Given the description of an element on the screen output the (x, y) to click on. 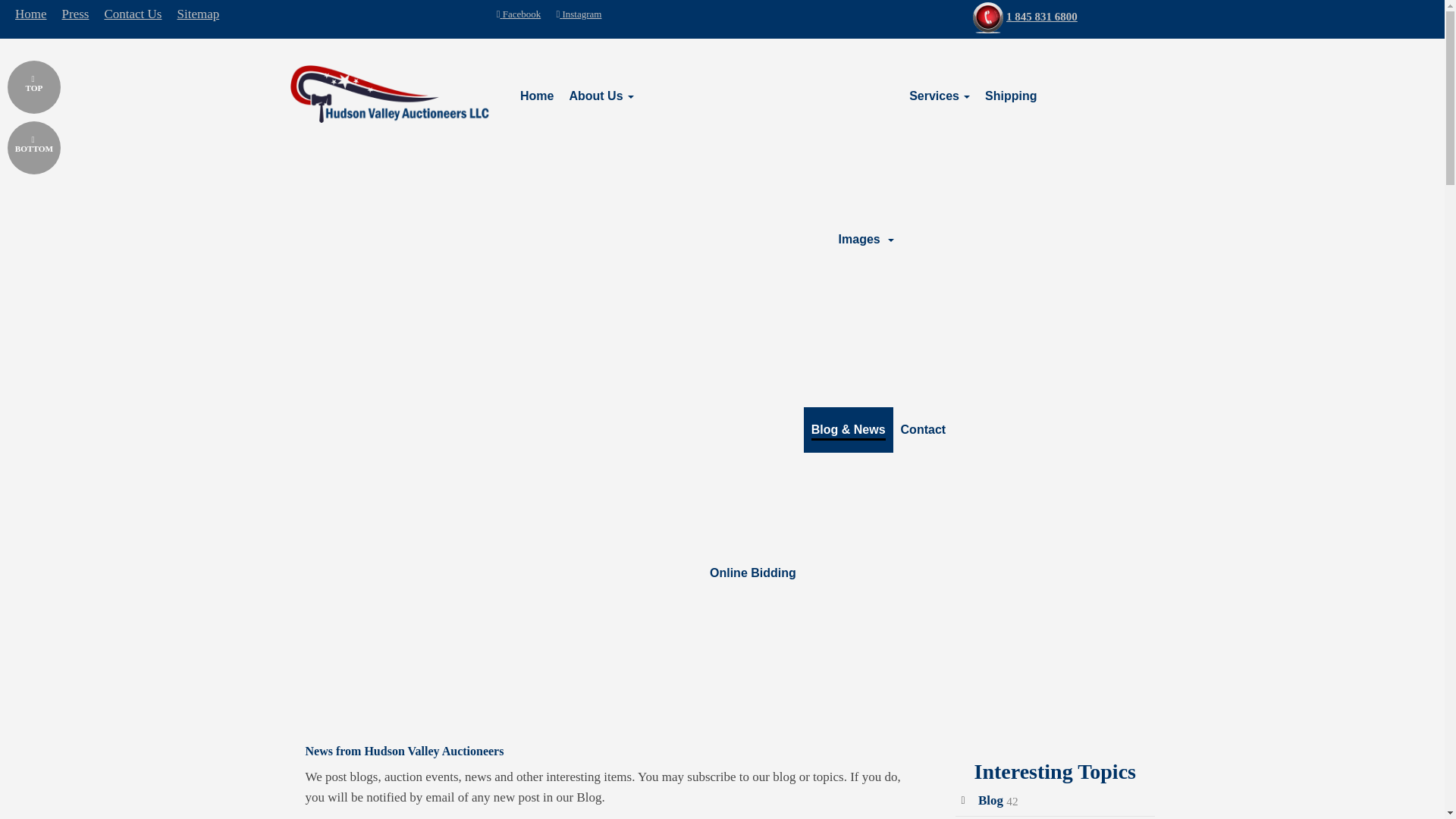
Contact (923, 429)
Facebook (518, 13)
1 845 831 6800 (1041, 16)
Home (536, 95)
Instagram (578, 13)
Sitemap (197, 13)
About Us (600, 95)
Home (34, 13)
Contact Us (132, 13)
Shipping (1009, 95)
Press (76, 13)
Hudson Valley Auctioneers (389, 93)
Services (938, 95)
